Given the description of an element on the screen output the (x, y) to click on. 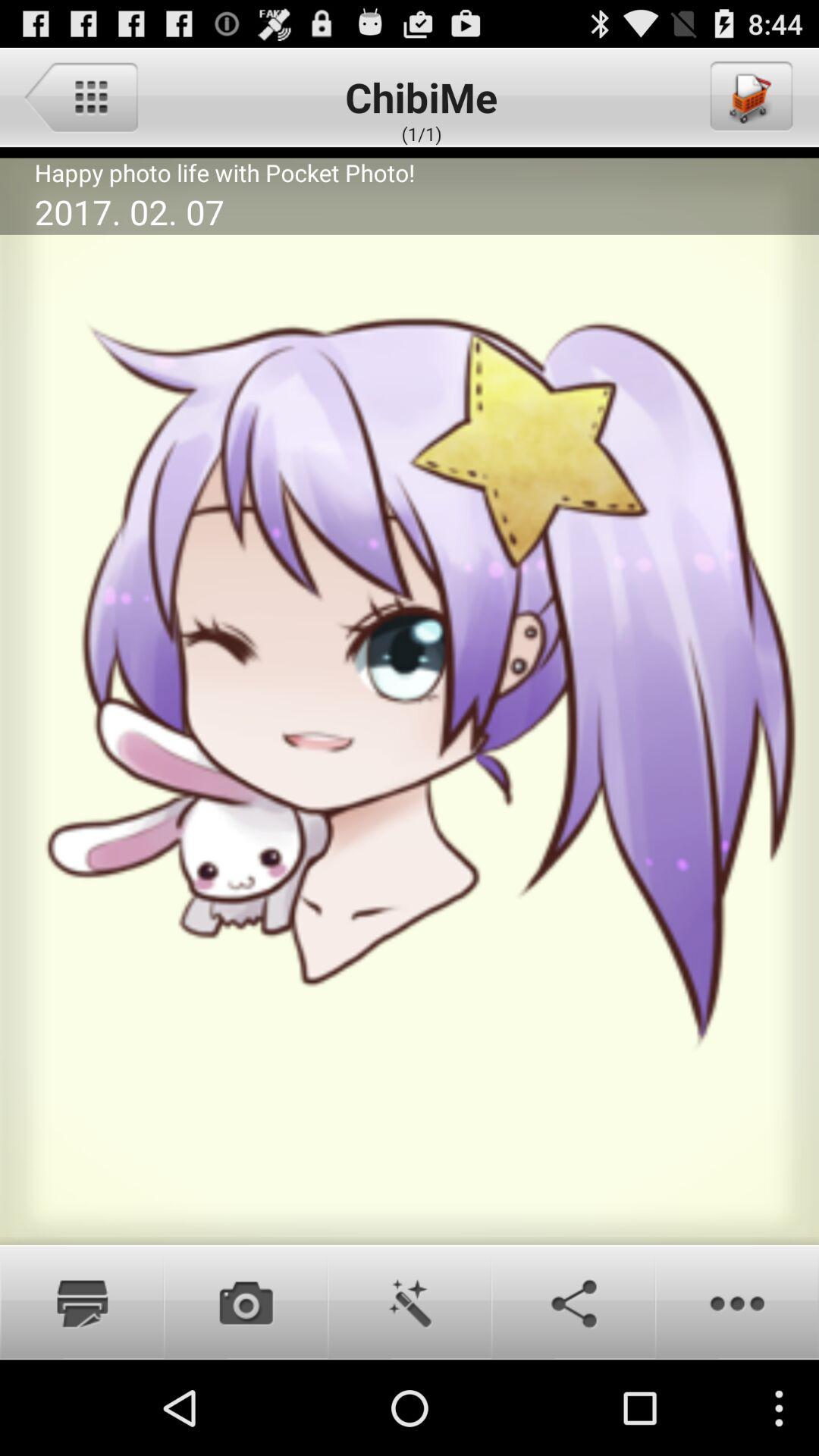
print image (81, 1301)
